Given the description of an element on the screen output the (x, y) to click on. 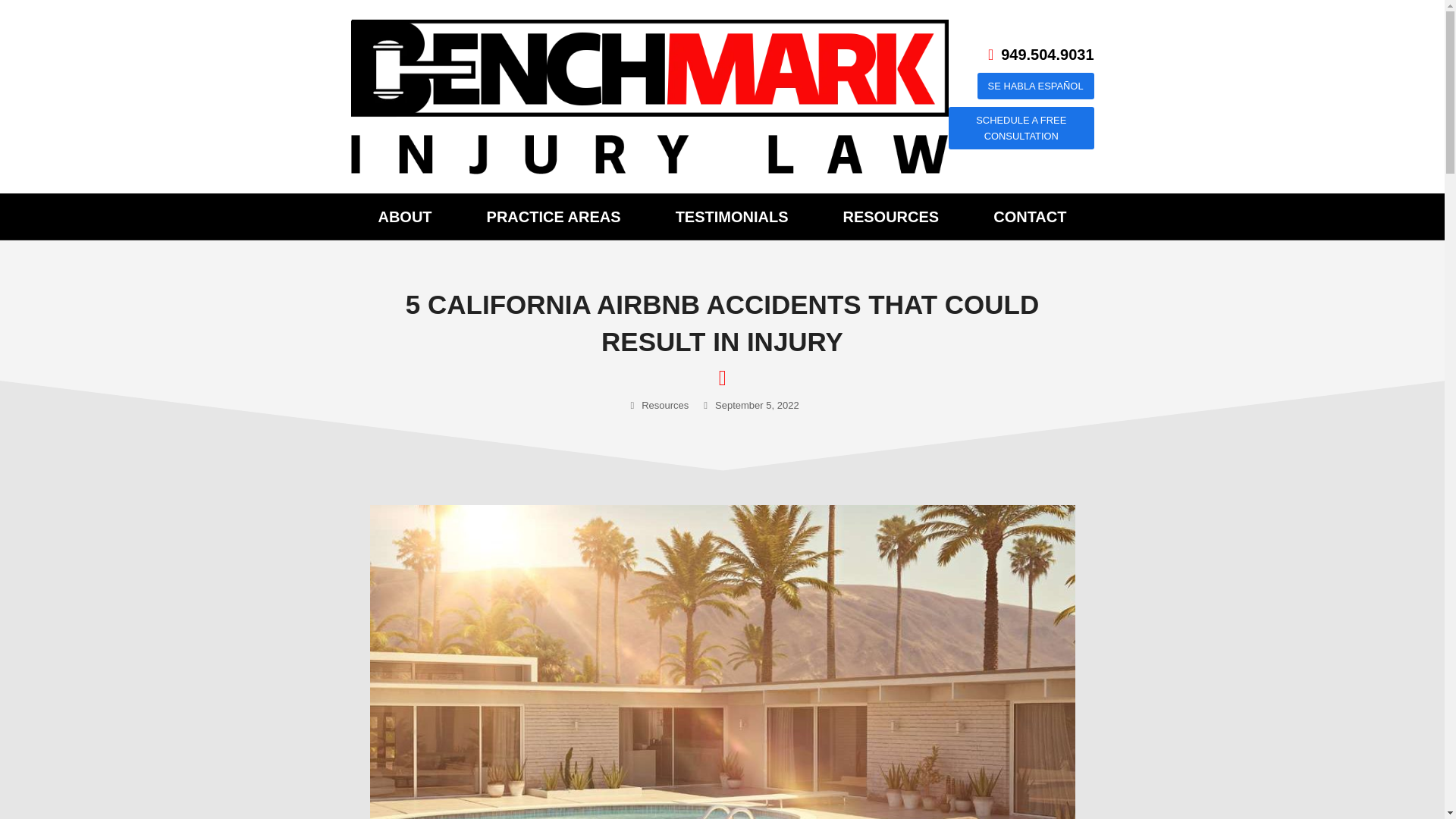
949.504.9031 (1041, 54)
TESTIMONIALS (731, 216)
ABOUT (404, 216)
RESOURCES (890, 216)
CONTACT (1029, 216)
PRACTICE AREAS (553, 216)
Resources (665, 405)
SCHEDULE A FREE CONSULTATION (1021, 128)
